Given the description of an element on the screen output the (x, y) to click on. 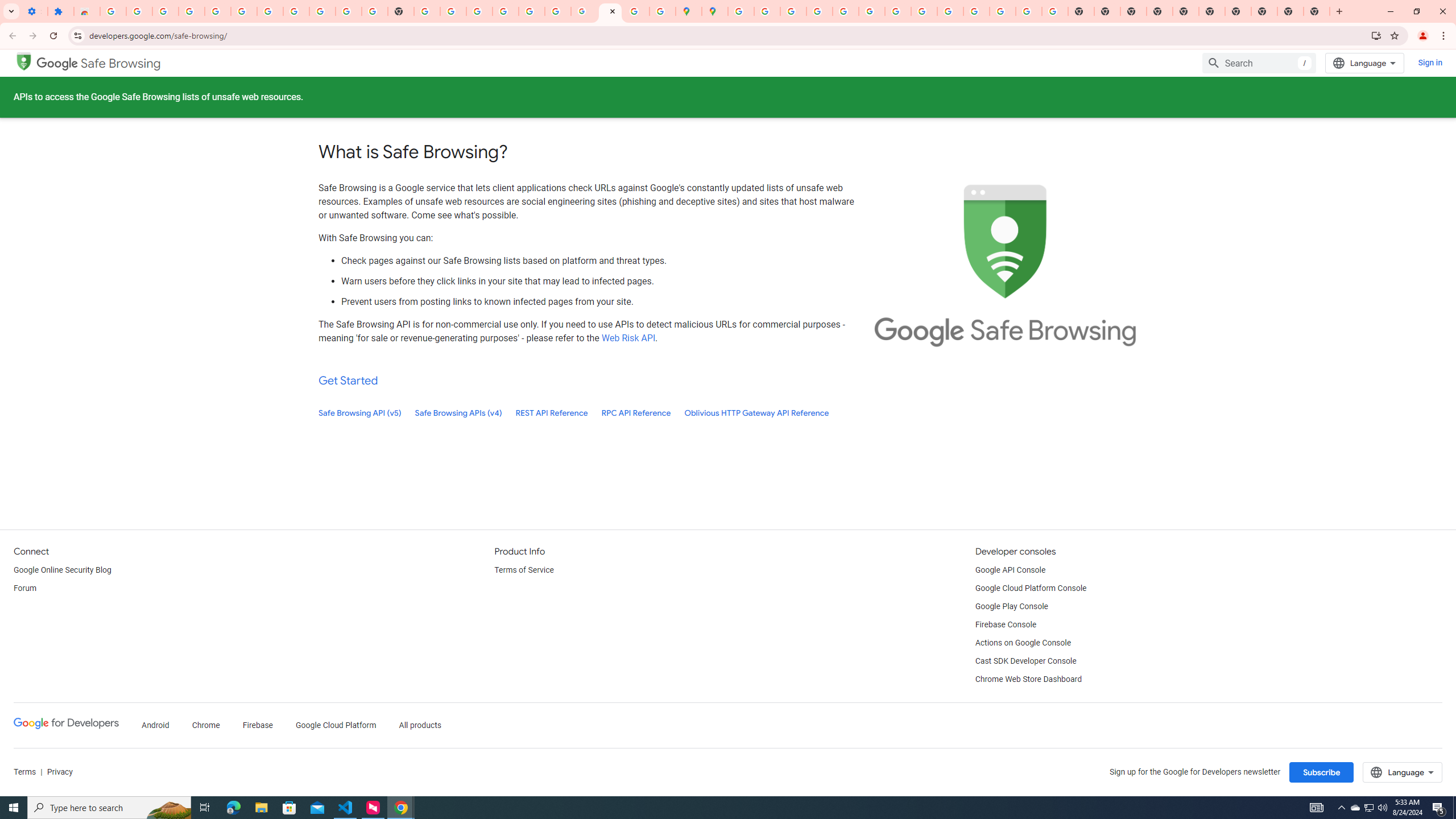
Search (1258, 63)
Google Developers (66, 725)
New Tab (1159, 11)
Google Play Console (1011, 606)
Extensions (60, 11)
REST API Reference (551, 412)
Terms (24, 772)
Delete photos & videos - Computer - Google Photos Help (191, 11)
Google Images (1054, 11)
